Given the description of an element on the screen output the (x, y) to click on. 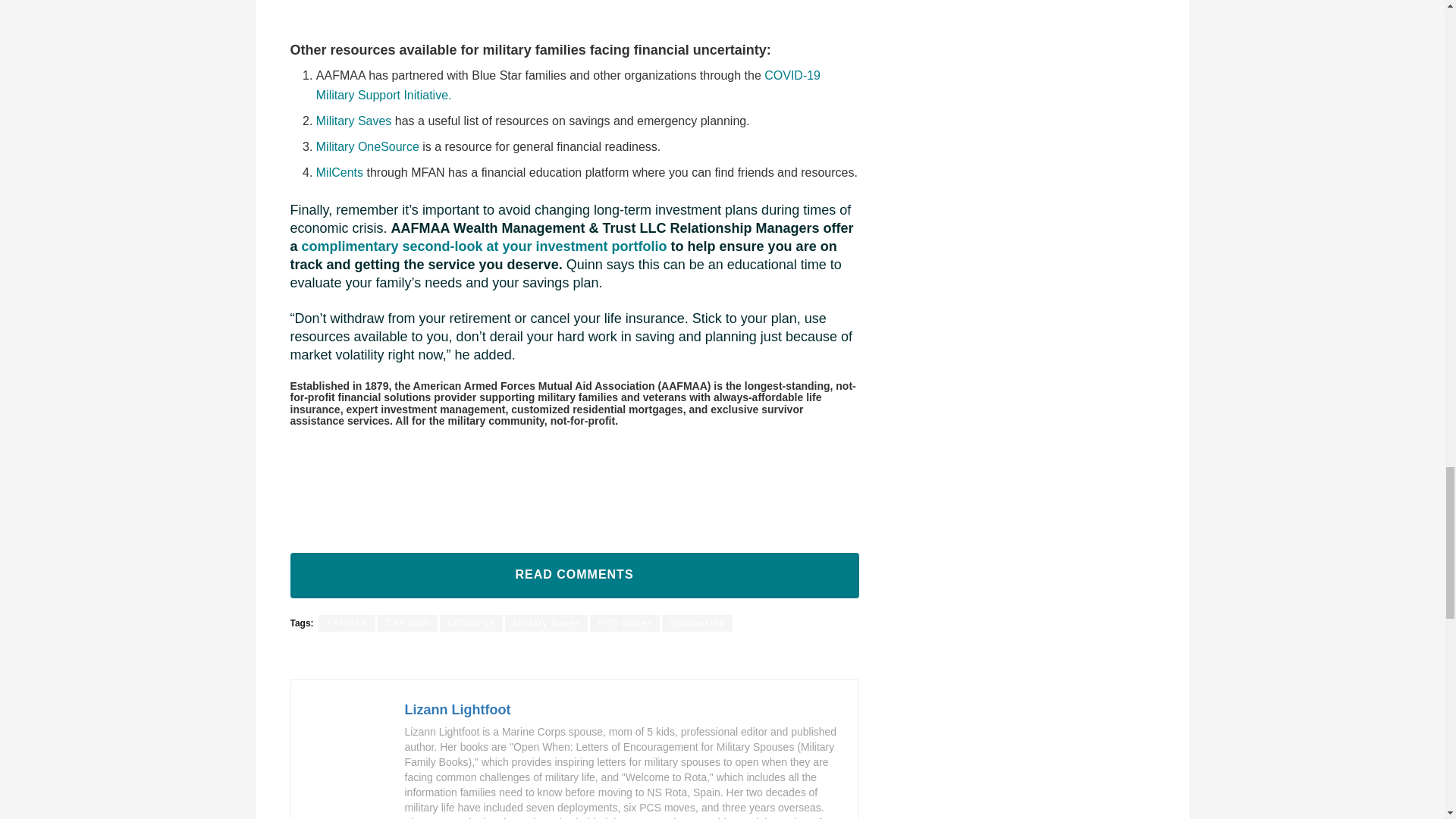
MilCents (338, 172)
Military OneSource (367, 146)
COVID-19 Military Support Initiative. (568, 84)
Military Saves (353, 120)
complimentary second-look at your investment portfolio (483, 246)
